Given the description of an element on the screen output the (x, y) to click on. 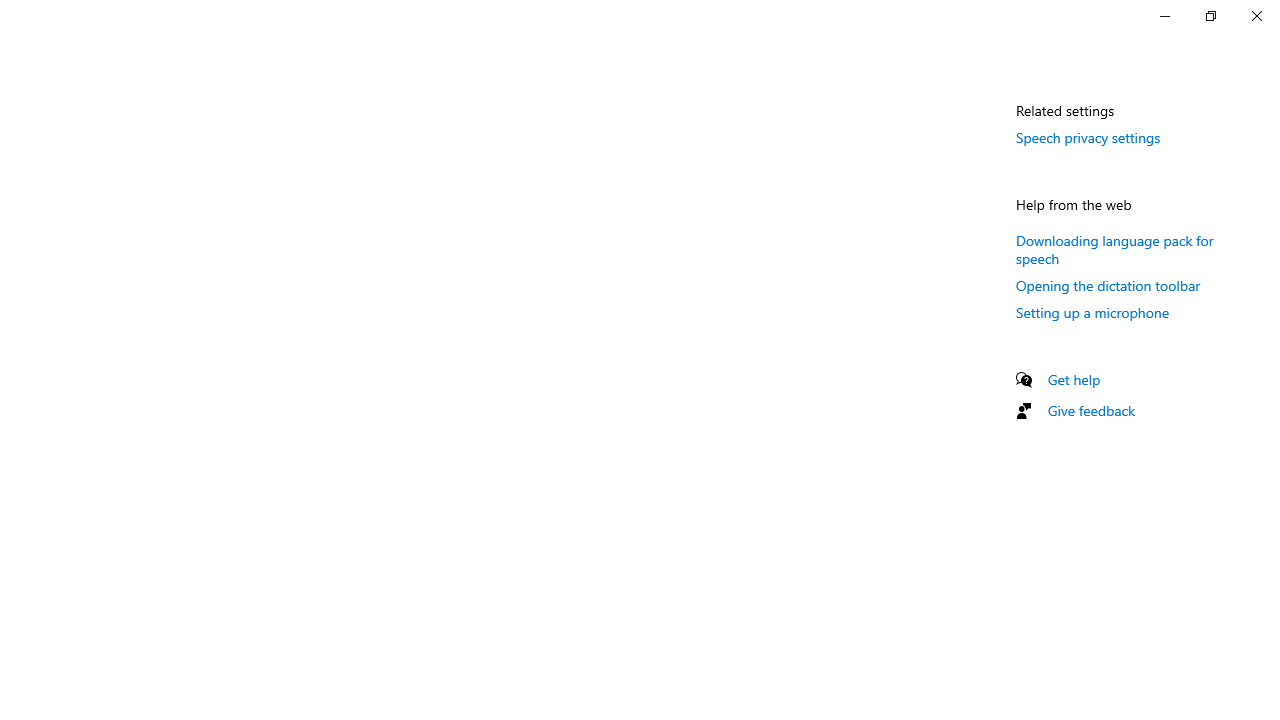
Opening the dictation toolbar (1108, 285)
Restore Settings (1210, 15)
Downloading language pack for speech (1114, 248)
Get help (1074, 379)
Give feedback (1091, 410)
Close Settings (1256, 15)
Setting up a microphone (1092, 312)
Minimize Settings (1164, 15)
Speech privacy settings (1088, 137)
